Given the description of an element on the screen output the (x, y) to click on. 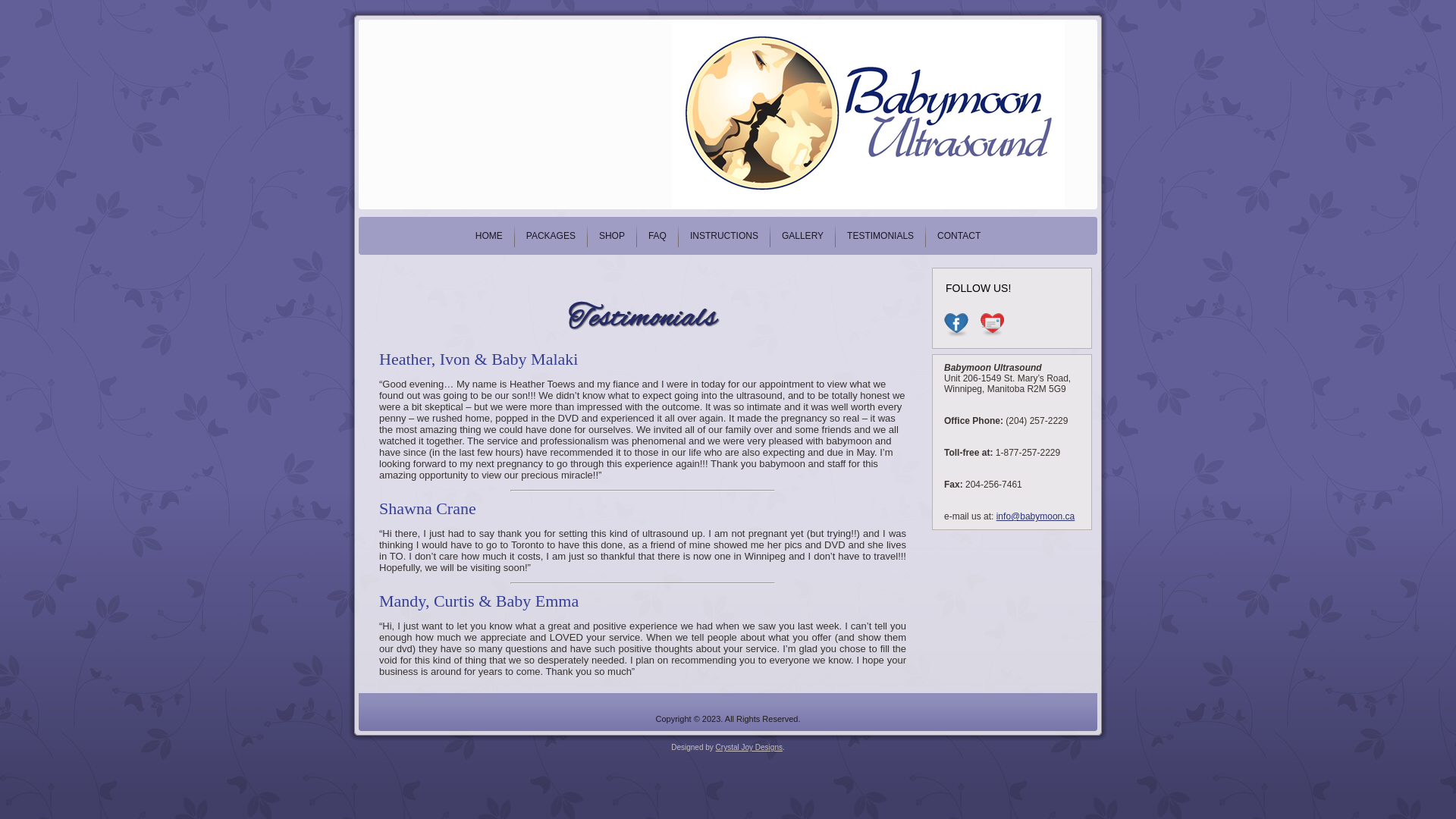
FAQ Element type: text (657, 235)
Follow Us on Facebook Element type: hover (956, 324)
CONTACT Element type: text (958, 235)
GALLERY Element type: text (802, 235)
PACKAGES Element type: text (550, 235)
info@babymoon.ca Element type: text (1035, 516)
INSTRUCTIONS Element type: text (723, 235)
SHOP Element type: text (611, 235)
TESTIMONIALS Element type: text (880, 235)
HOME Element type: text (489, 235)
Follow Us on E-mail Element type: hover (991, 324)
Crystal Joy Designs Element type: text (748, 747)
